Given the description of an element on the screen output the (x, y) to click on. 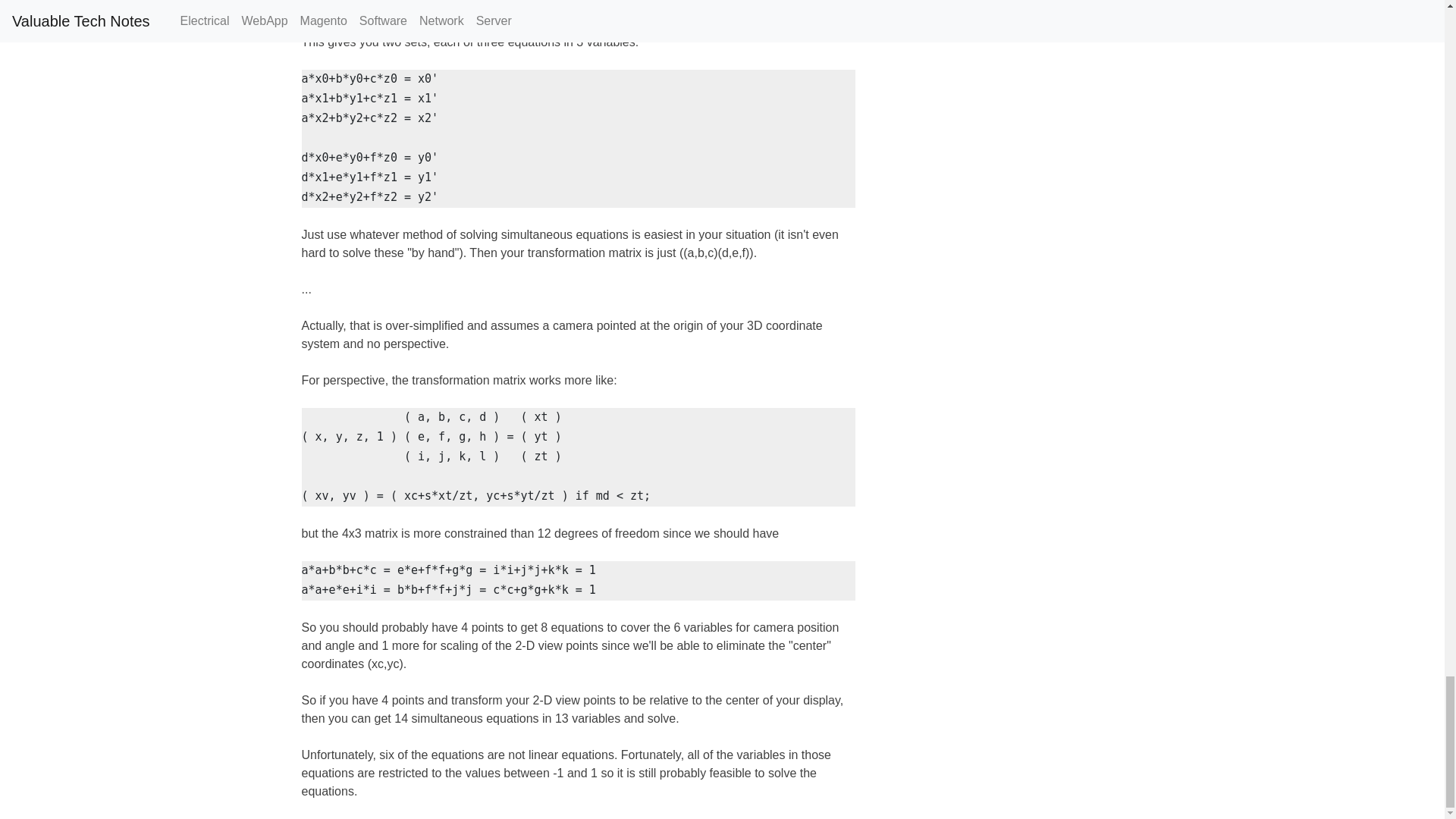
3d to 2d Projection Matrix (387, 6)
